Given the description of an element on the screen output the (x, y) to click on. 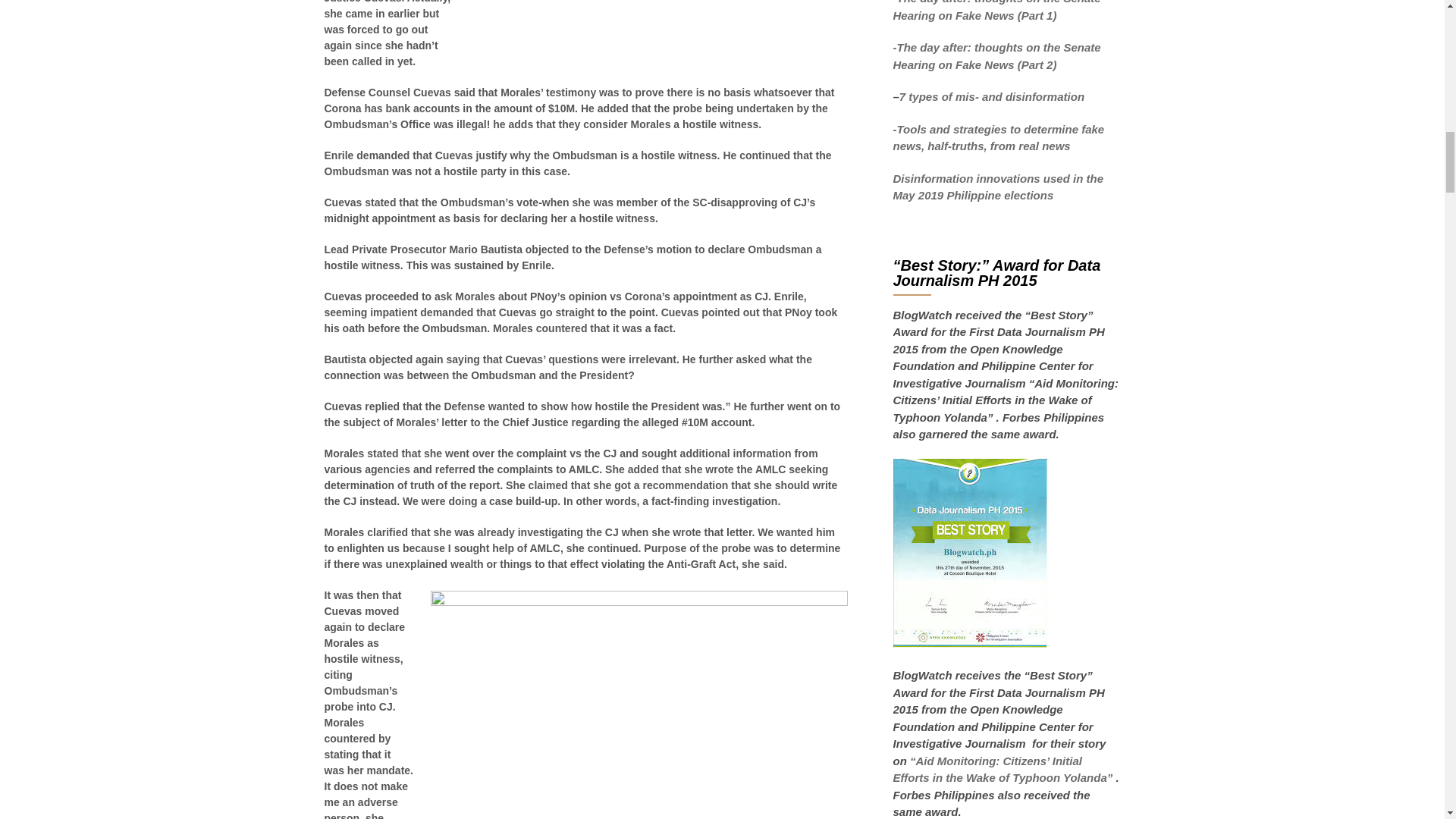
7 types of mis- and disinformation  (993, 96)
senator enrile impeachment (657, 28)
hostile witness (638, 704)
